Given the description of an element on the screen output the (x, y) to click on. 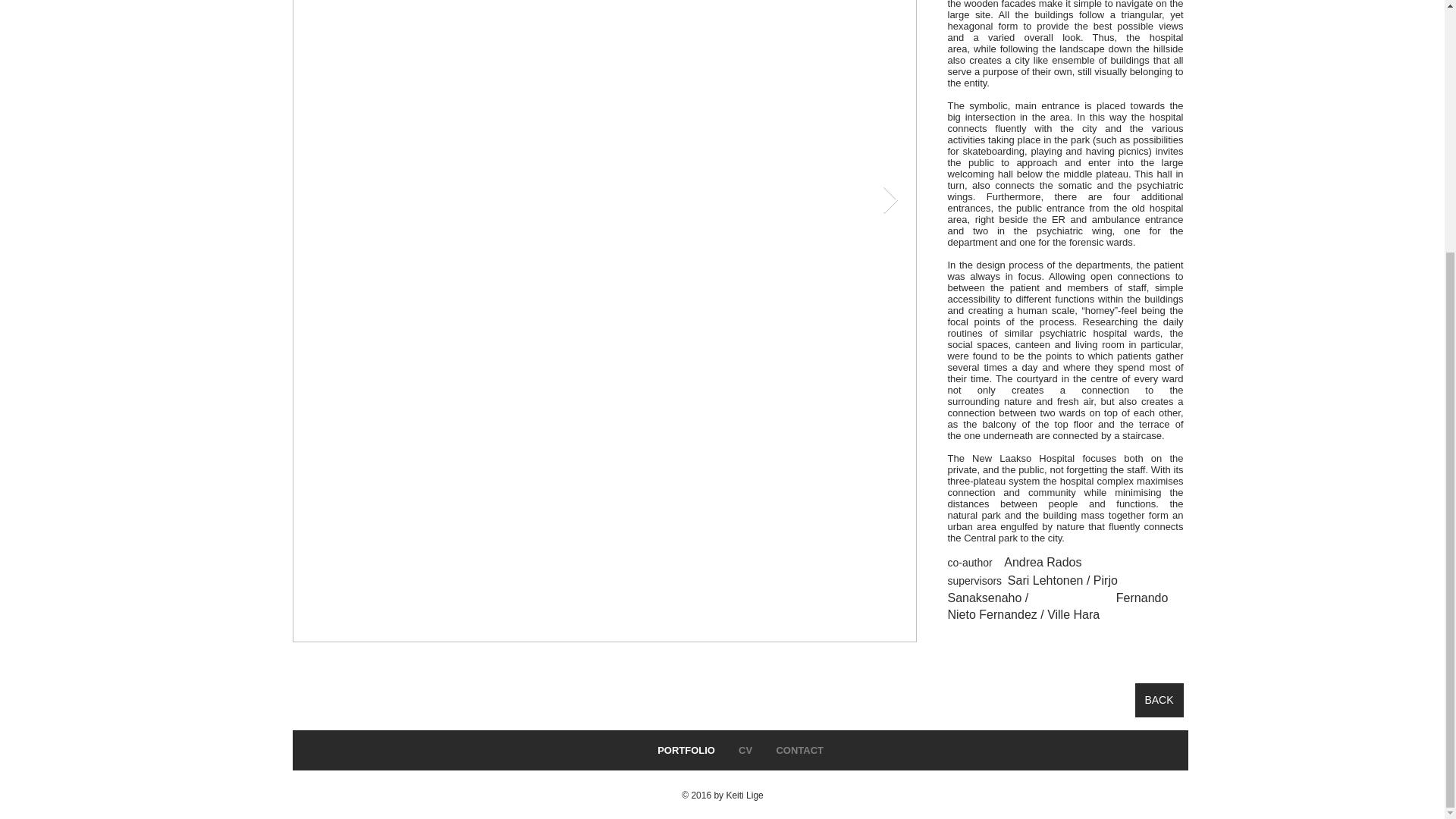
CV (744, 750)
PORTFOLIO (685, 750)
BACK (1158, 700)
CONTACT (798, 750)
